Given the description of an element on the screen output the (x, y) to click on. 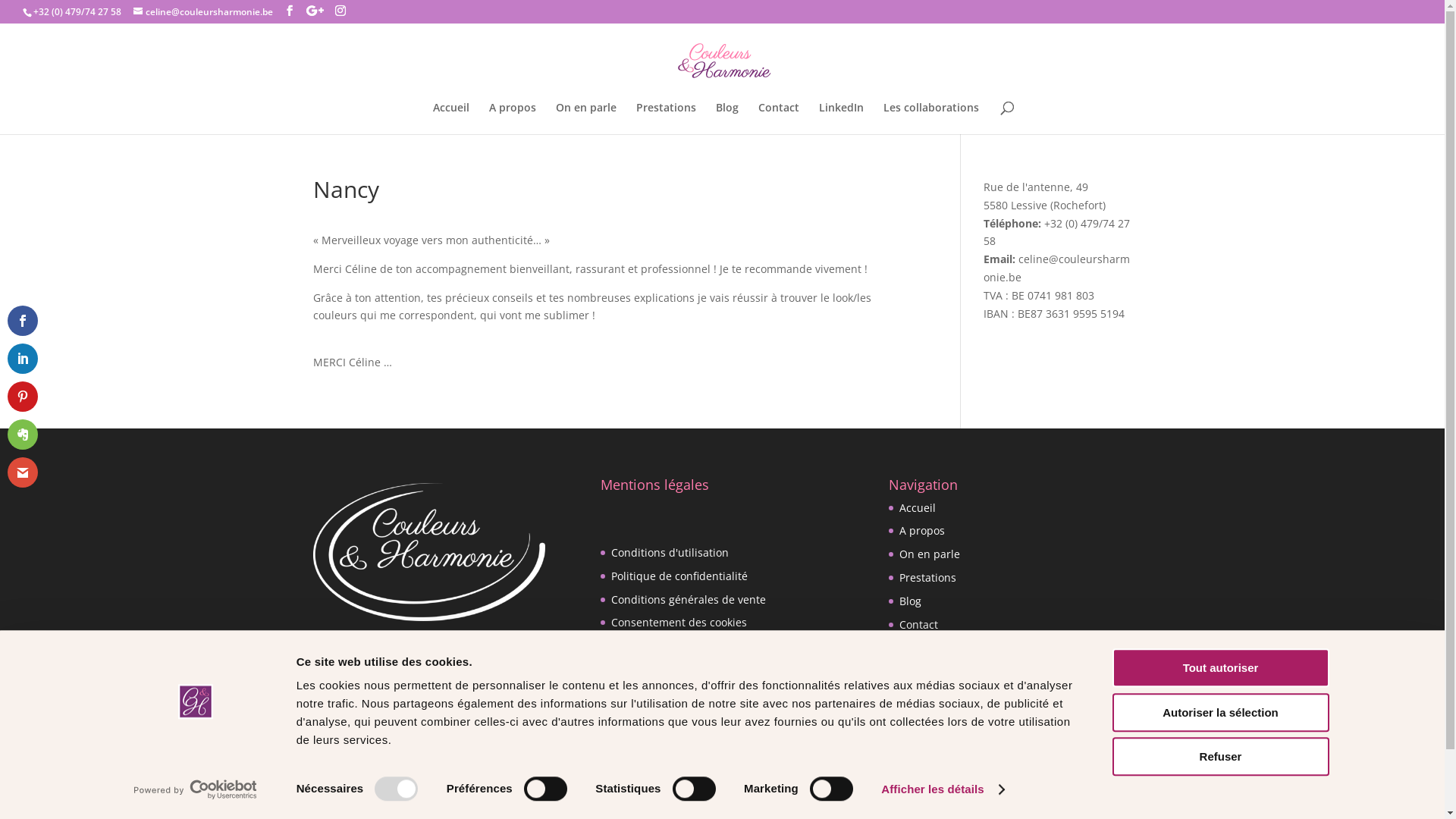
Blog Element type: text (910, 600)
Les collaborations Element type: text (945, 670)
LinkedIn Element type: text (920, 647)
Contact Element type: text (778, 118)
Accueil Element type: text (450, 118)
Conditions d'utilisation Element type: text (669, 552)
celine@couleursharmonie.be Element type: text (203, 11)
Contact Element type: text (918, 624)
Les collaborations Element type: text (930, 118)
Prestations Element type: text (927, 577)
A propos Element type: text (921, 530)
Refuser Element type: text (1219, 756)
On en parle Element type: text (585, 118)
Prestations Element type: text (665, 118)
LinkedIn Element type: text (841, 118)
A propos Element type: text (511, 118)
Blog Element type: text (726, 118)
Tout autoriser Element type: text (1219, 667)
Consentement des cookies Element type: text (678, 622)
Accueil Element type: text (917, 507)
On en parle Element type: text (929, 553)
